Given the description of an element on the screen output the (x, y) to click on. 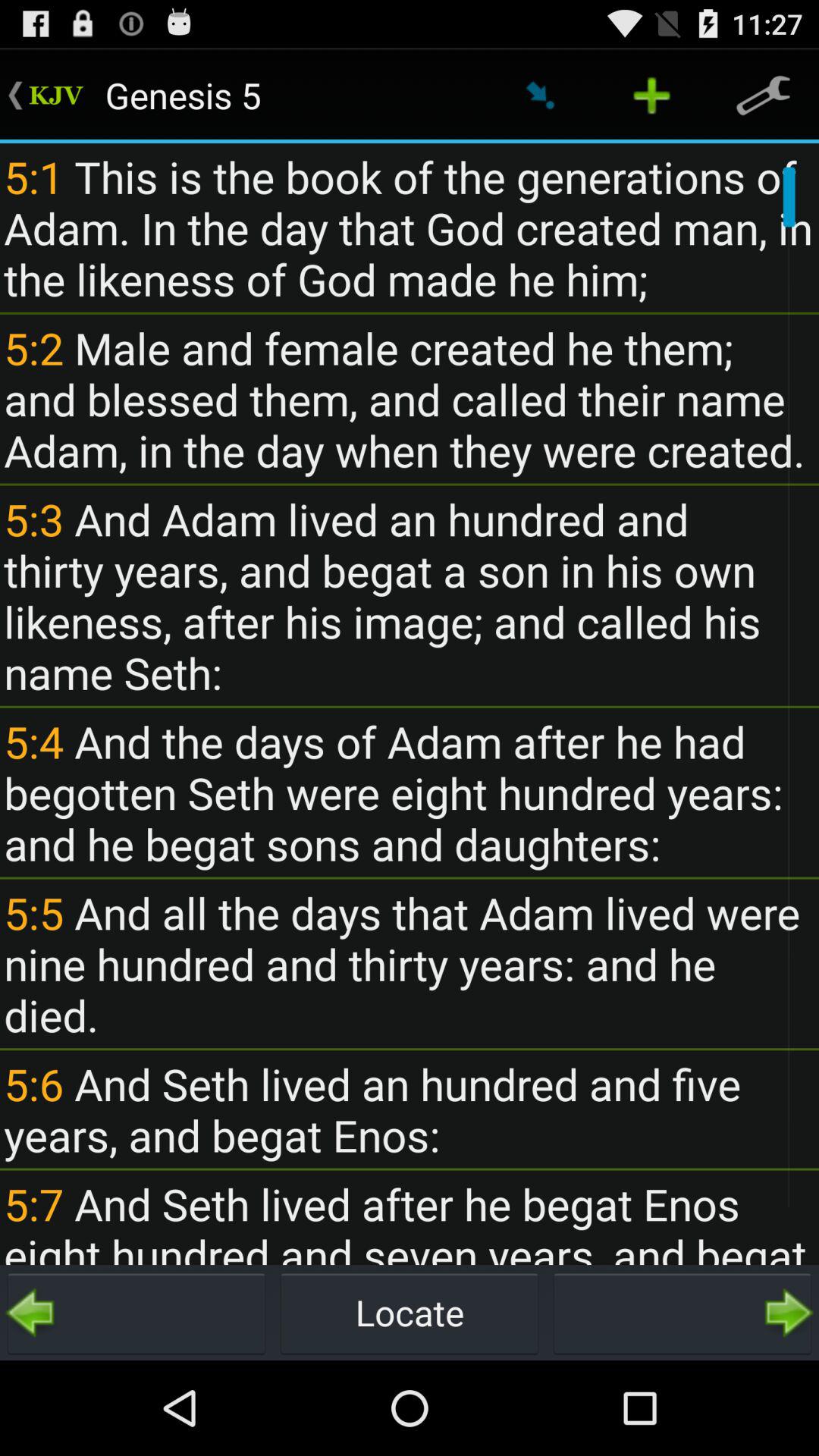
turn off icon at the bottom left corner (136, 1312)
